Given the description of an element on the screen output the (x, y) to click on. 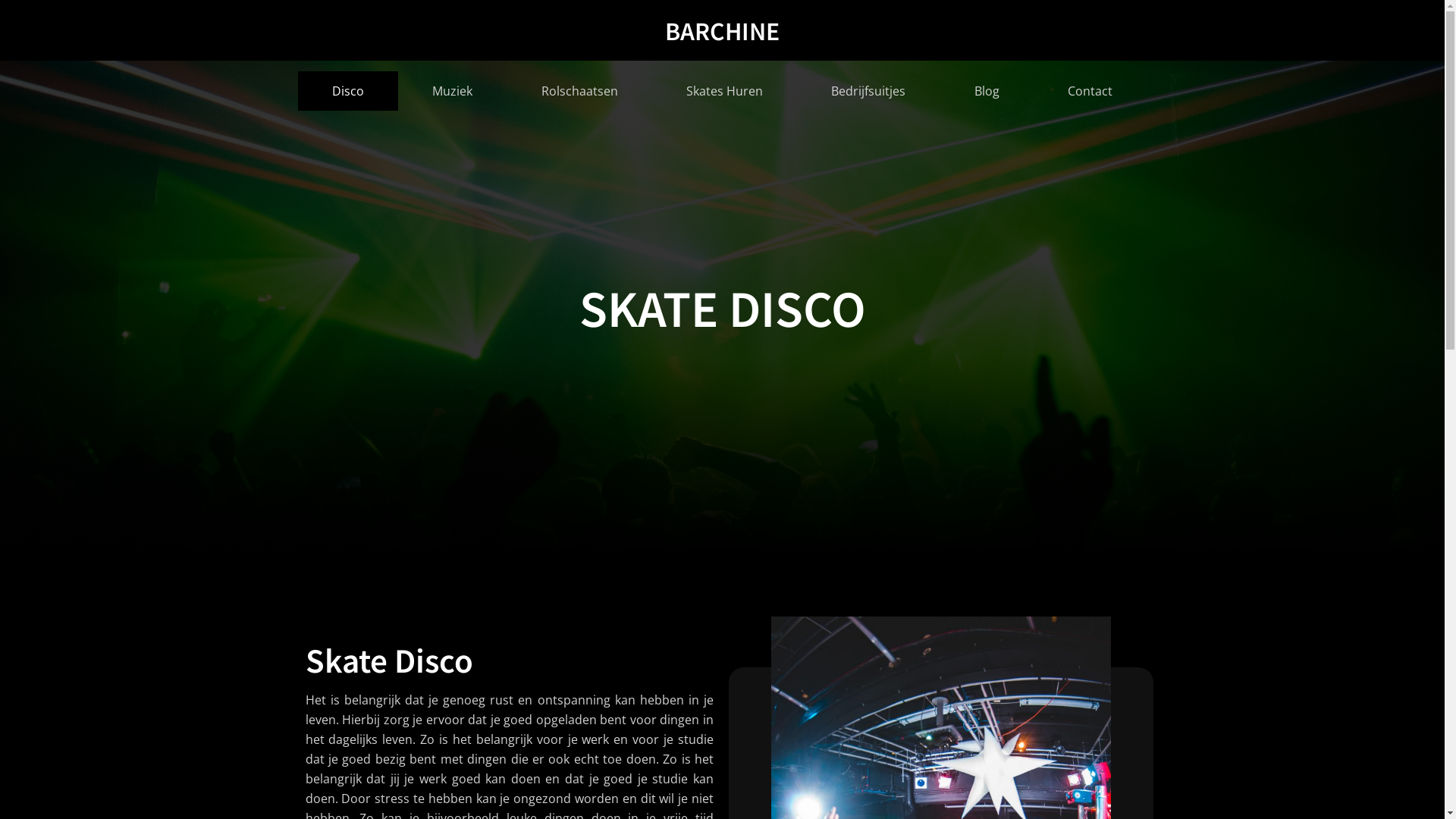
BARCHINE Element type: text (722, 30)
Blog Element type: text (986, 90)
Bedrijfsuitjes Element type: text (868, 90)
Contact Element type: text (1089, 90)
Disco Element type: text (347, 90)
Rolschaatsen Element type: text (578, 90)
Skates Huren Element type: text (724, 90)
Muziek Element type: text (452, 90)
